Given the description of an element on the screen output the (x, y) to click on. 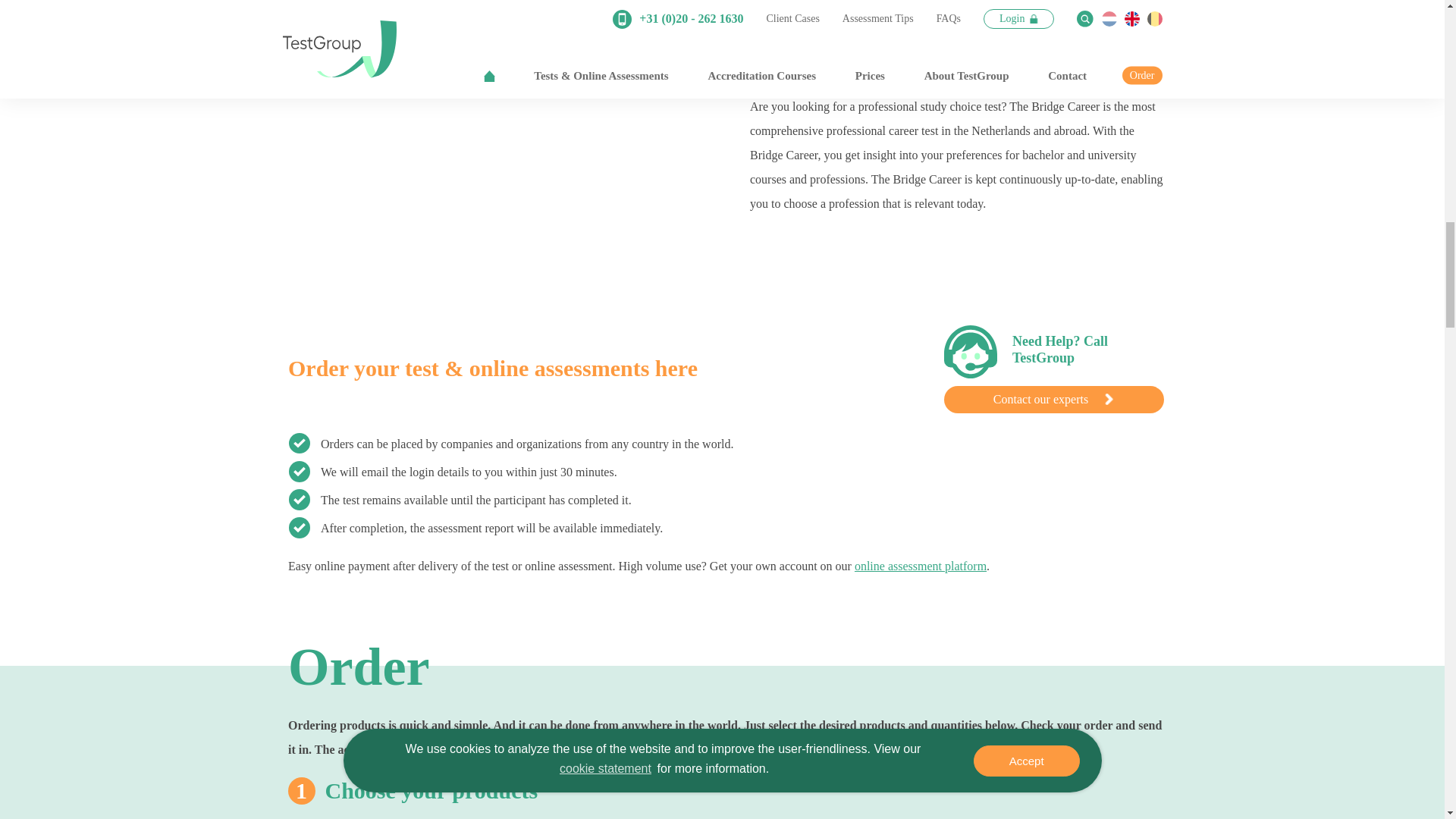
YouTube video player (497, 139)
